Given the description of an element on the screen output the (x, y) to click on. 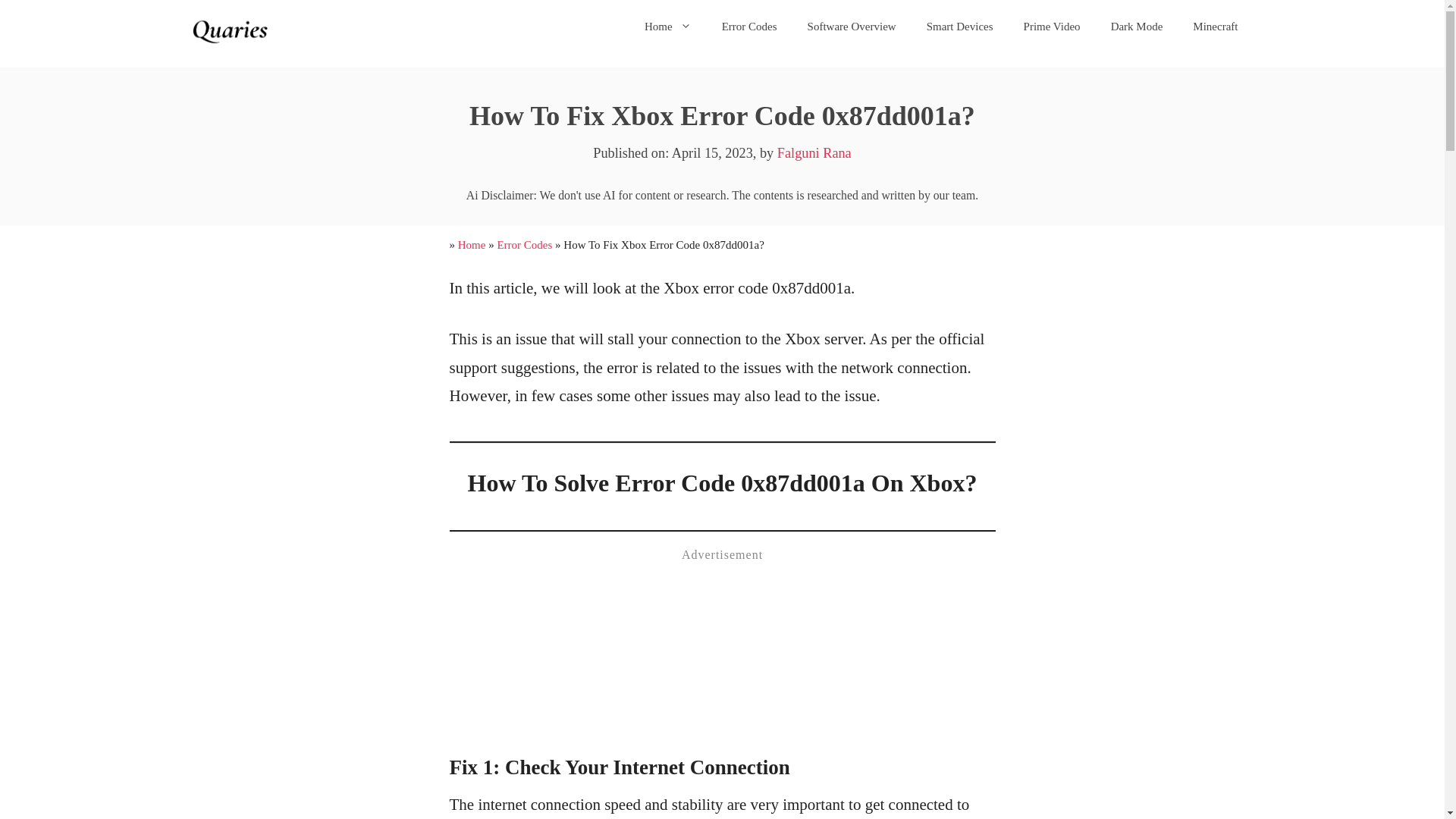
Dark Mode (1136, 26)
Minecraft (1214, 26)
Prime Video (1052, 26)
View all posts by Falguni Rana (814, 152)
Software Overview (851, 26)
Home (472, 244)
Falguni Rana (814, 152)
Error Codes (749, 26)
Home (667, 26)
Smart Devices (960, 26)
Error Codes (523, 244)
